Given the description of an element on the screen output the (x, y) to click on. 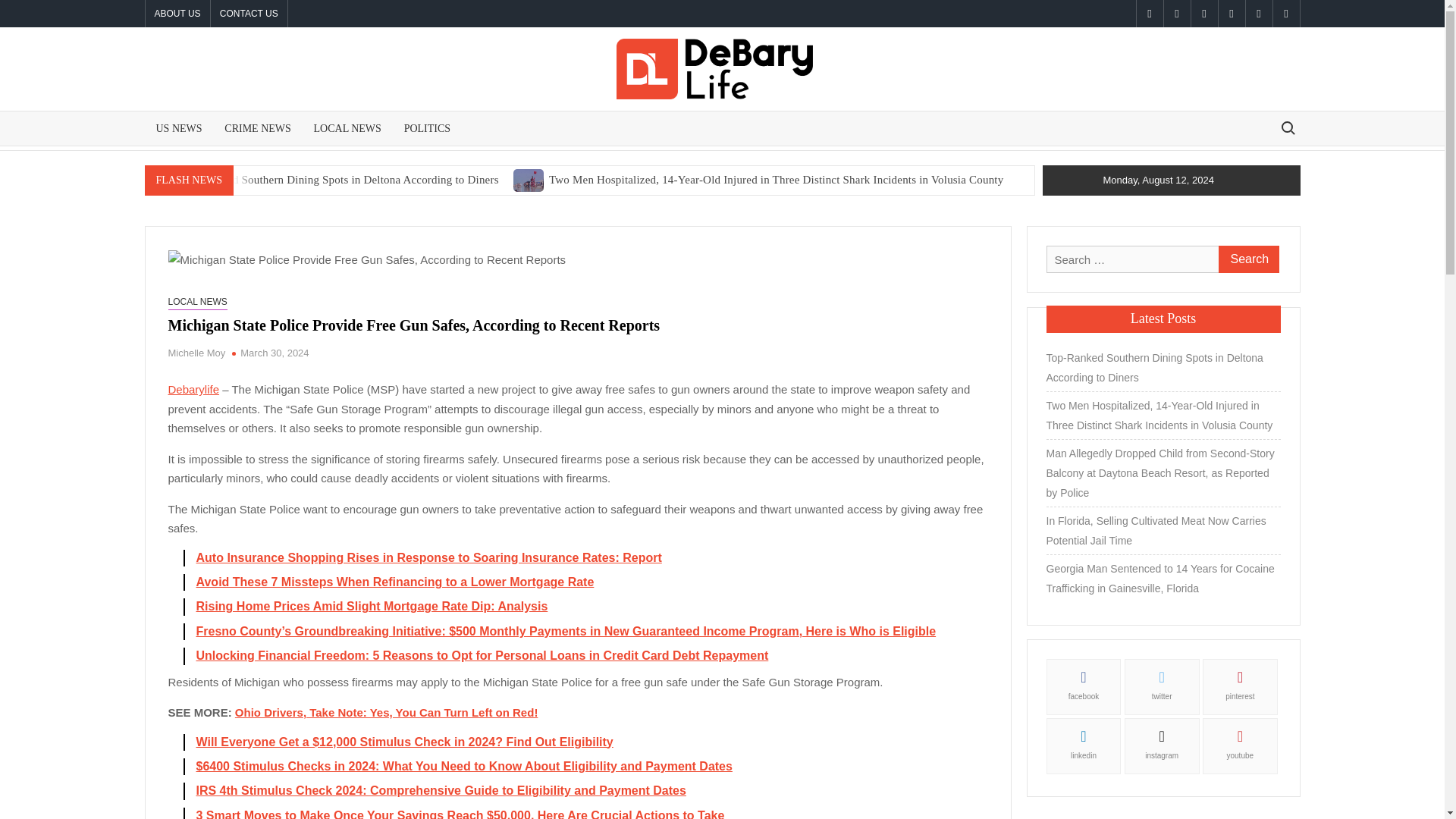
ABOUT US (177, 13)
Search (1247, 258)
POLITICS (427, 128)
CRIME NEWS (257, 128)
CONTACT US (248, 13)
